Given the description of an element on the screen output the (x, y) to click on. 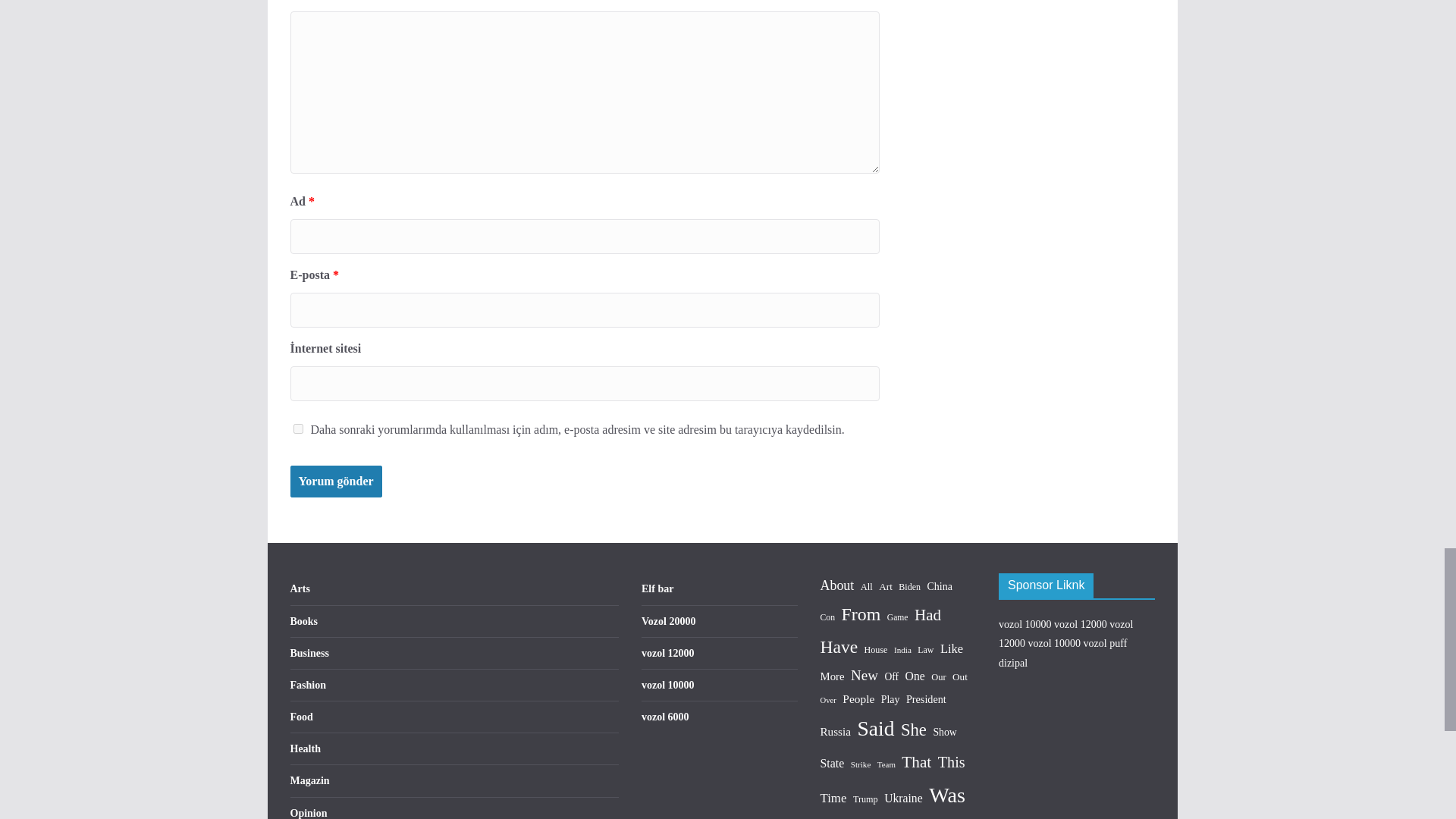
yes (297, 429)
